Given the description of an element on the screen output the (x, y) to click on. 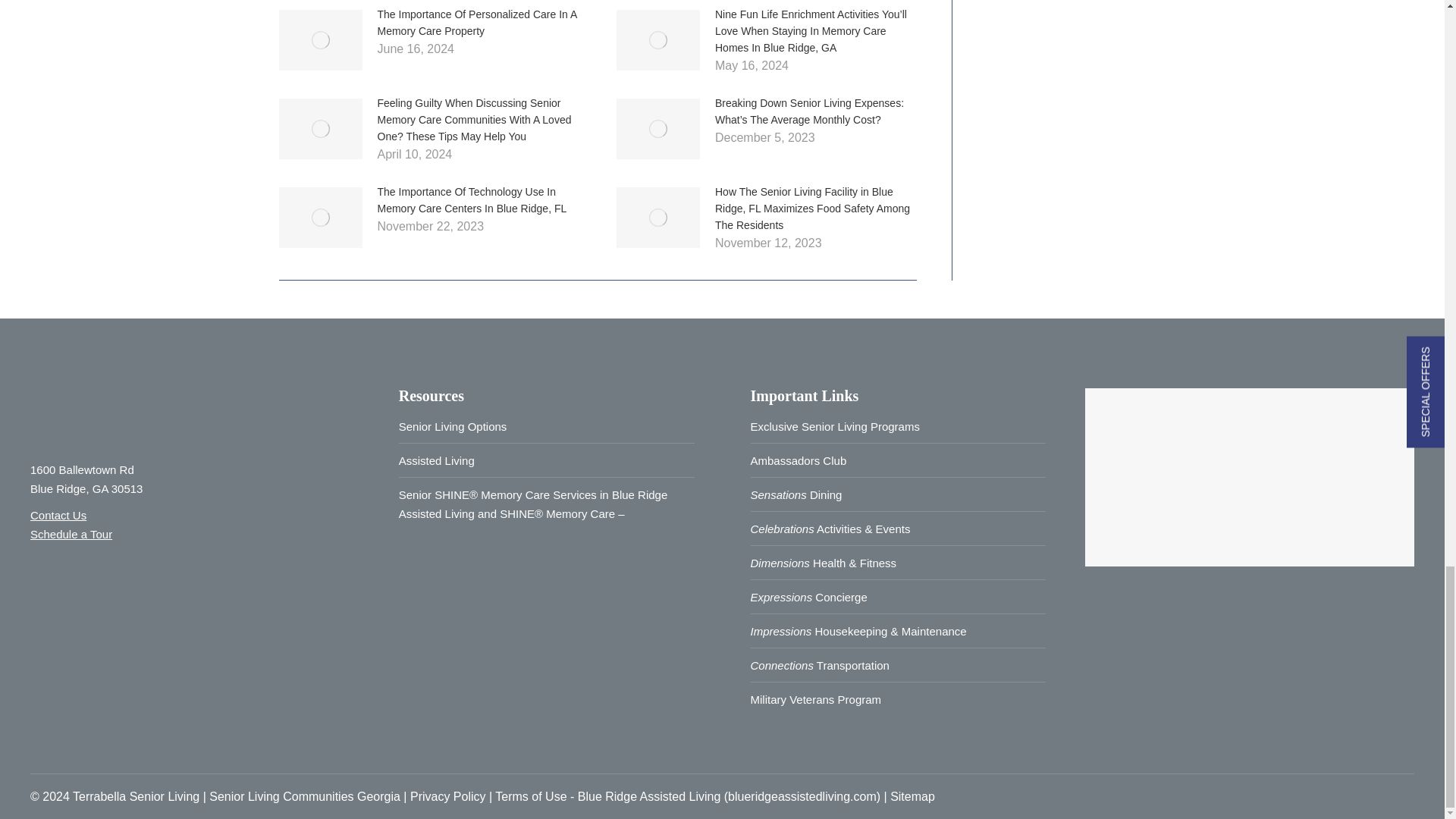
Equal-Housing-Opportunity-logo22-150x144-1 (150, 601)
terabelafooter-logo (124, 411)
Equal-Housing-Opportunity-logo222 (63, 600)
